Given the description of an element on the screen output the (x, y) to click on. 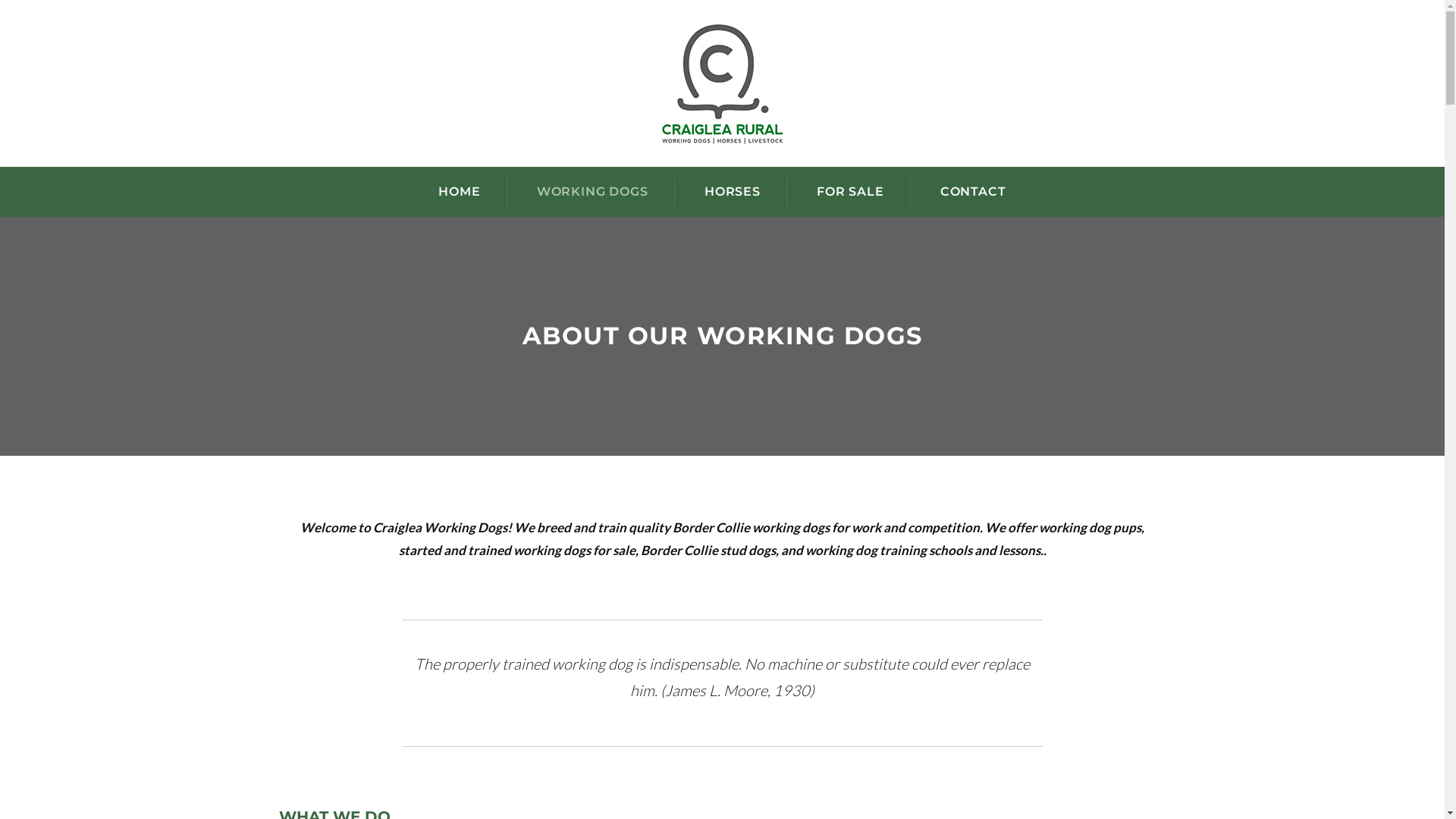
HORSES Element type: text (732, 191)
WORKING DOGS Element type: text (592, 191)
FOR SALE Element type: text (850, 191)
HOME Element type: text (458, 191)
CONTACT Element type: text (972, 191)
